Given the description of an element on the screen output the (x, y) to click on. 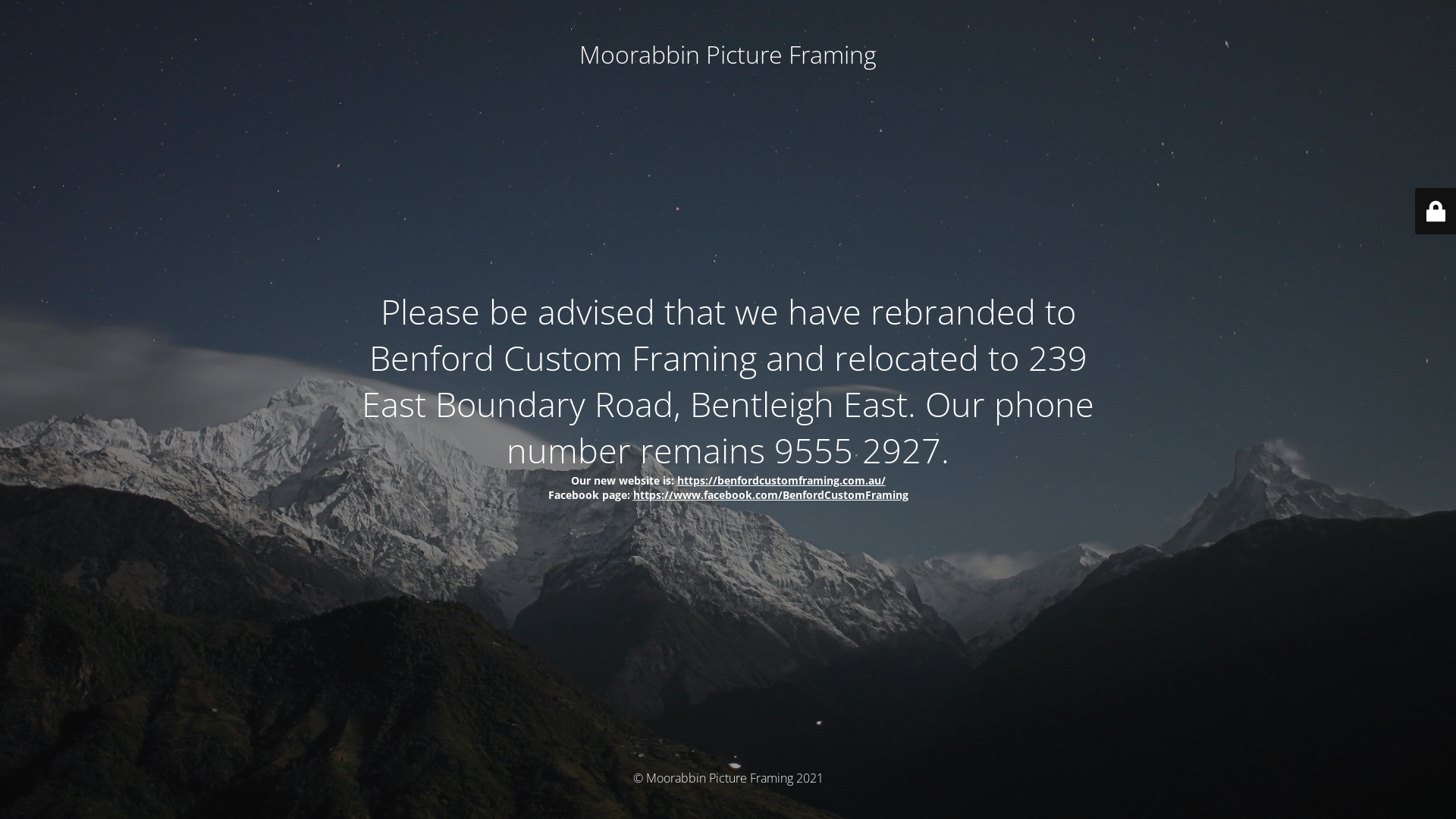
https://benfordcustomframing.com.au/ Element type: text (780, 480)
https://www.facebook.com/BenfordCustomFraming Element type: text (769, 493)
